Given the description of an element on the screen output the (x, y) to click on. 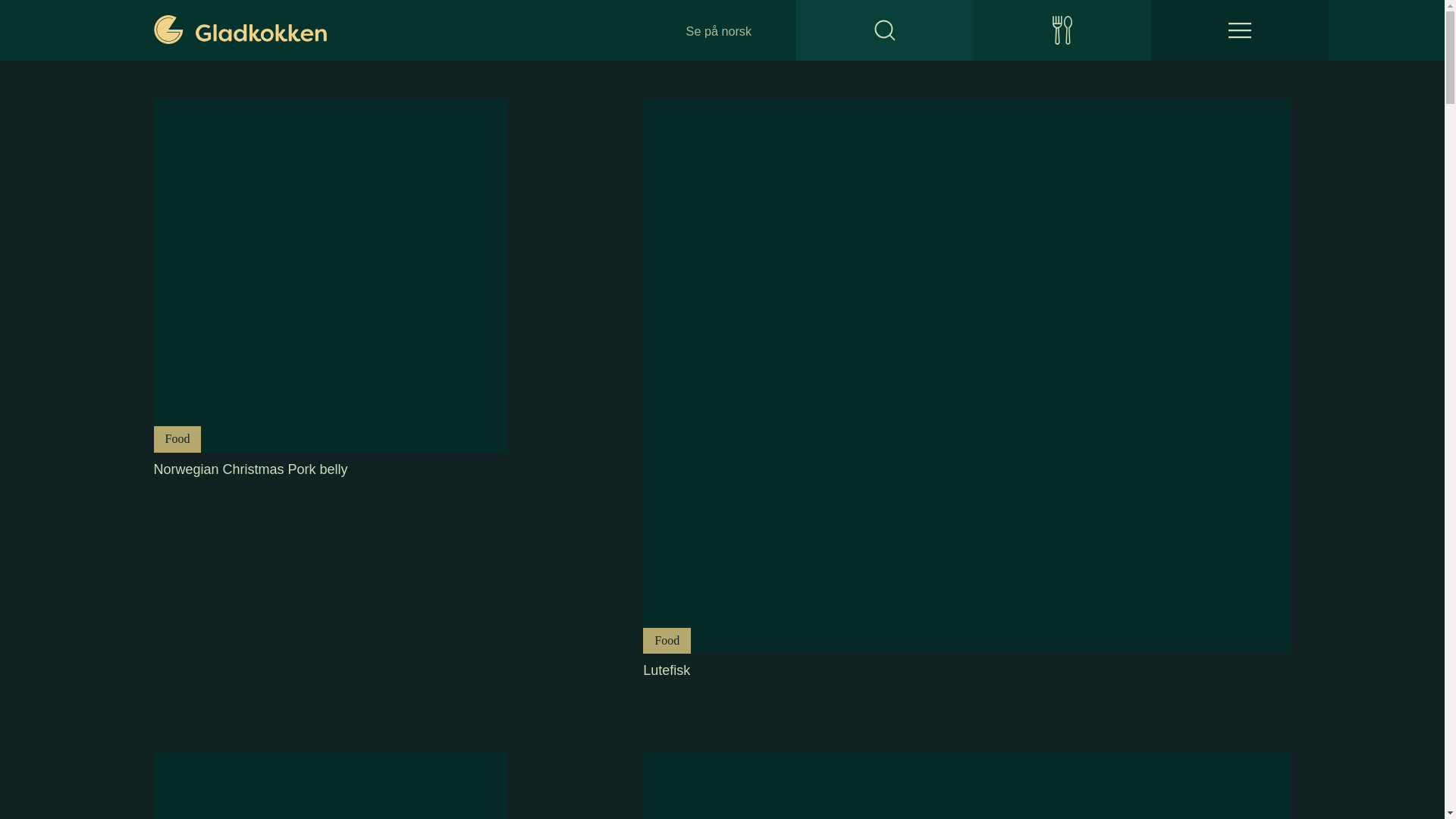
Recipes (966, 785)
Main menu (1062, 30)
Search (1239, 30)
